Given the description of an element on the screen output the (x, y) to click on. 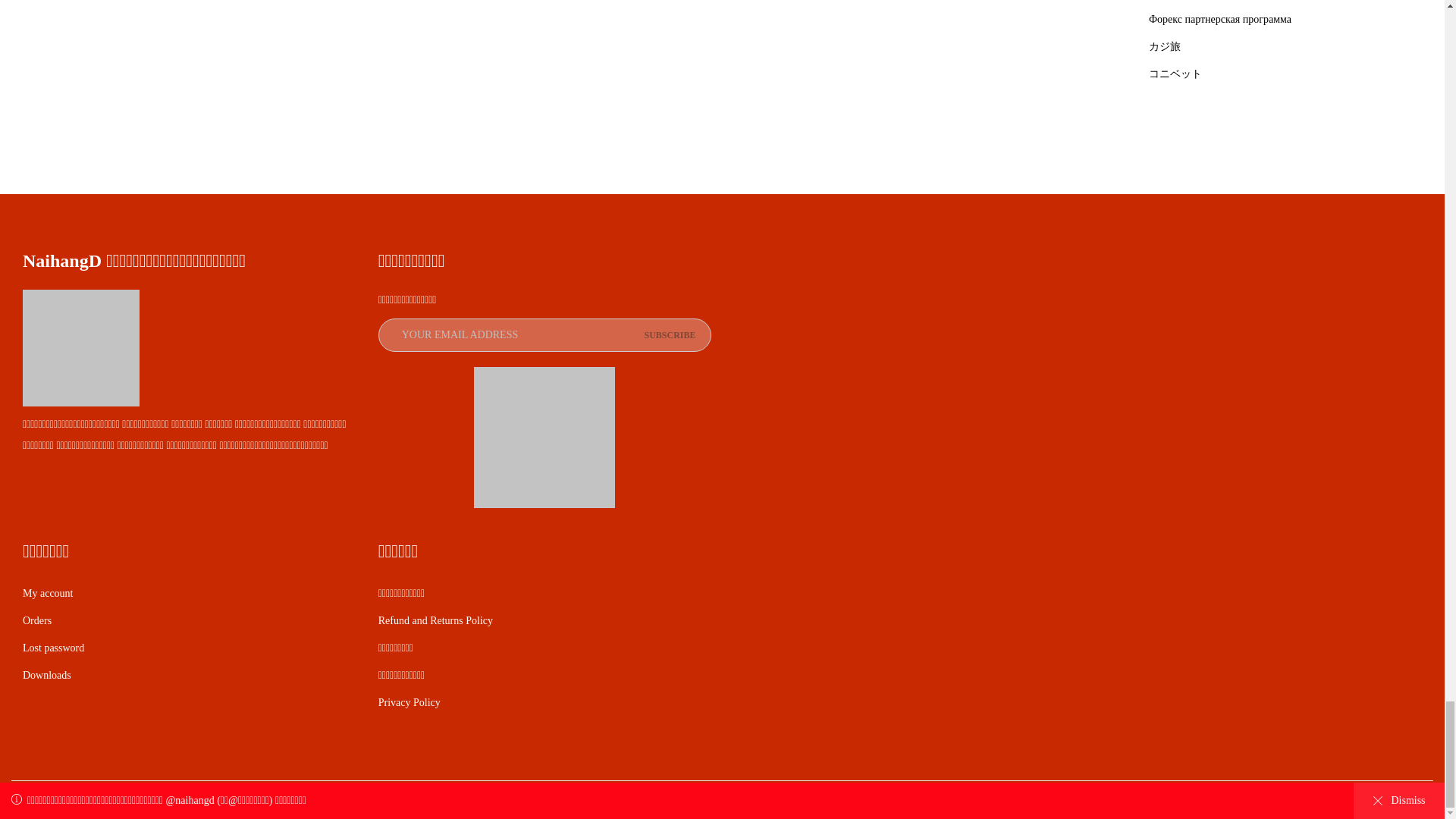
Subscribe (669, 335)
